Given the description of an element on the screen output the (x, y) to click on. 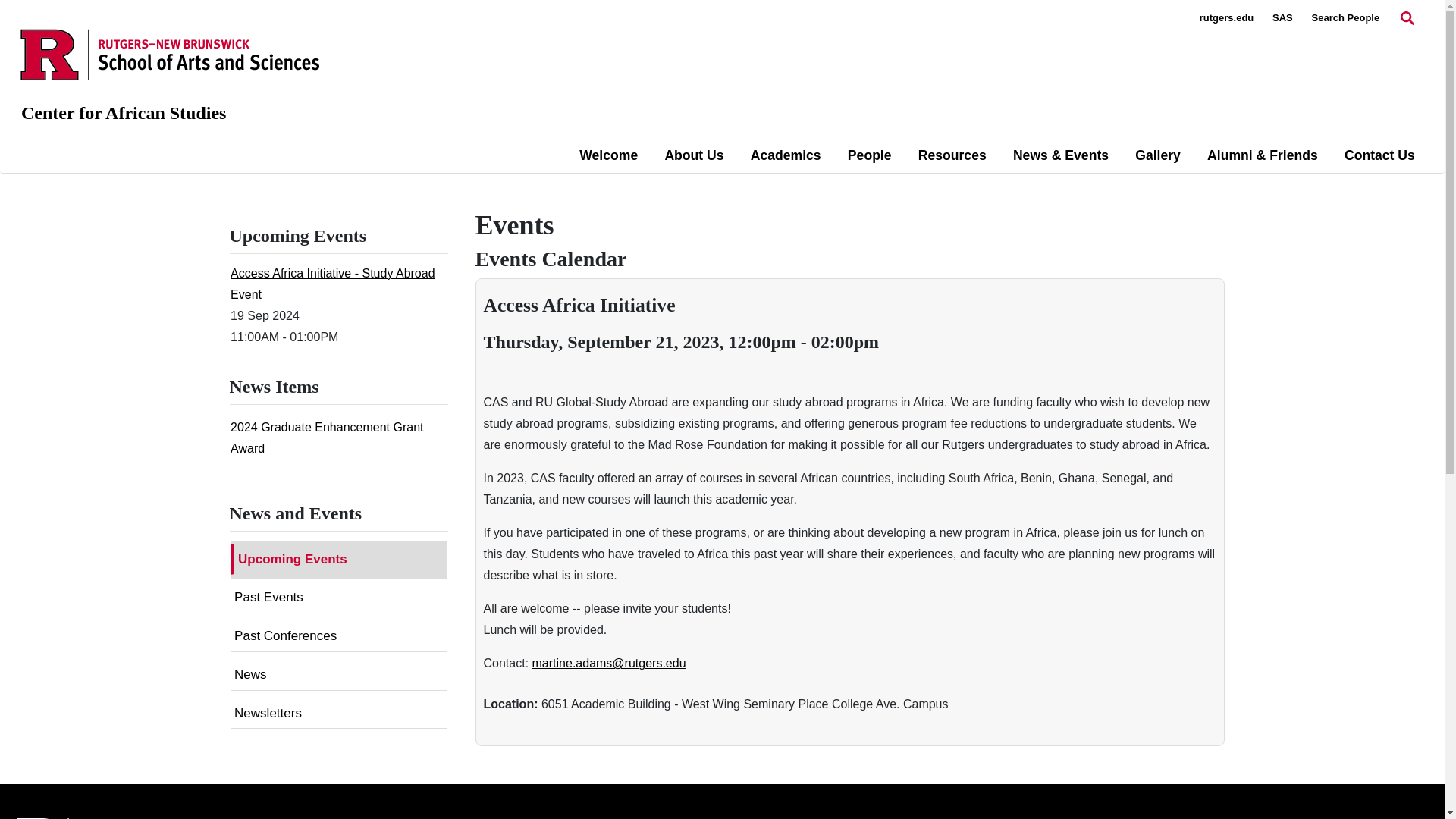
Welcome (608, 155)
About Us (693, 155)
Search People (1345, 17)
Resources (952, 155)
People (869, 155)
Center for African Studies (123, 112)
rutgers.edu (1226, 17)
Academics (786, 155)
SAS (1282, 17)
